Given the description of an element on the screen output the (x, y) to click on. 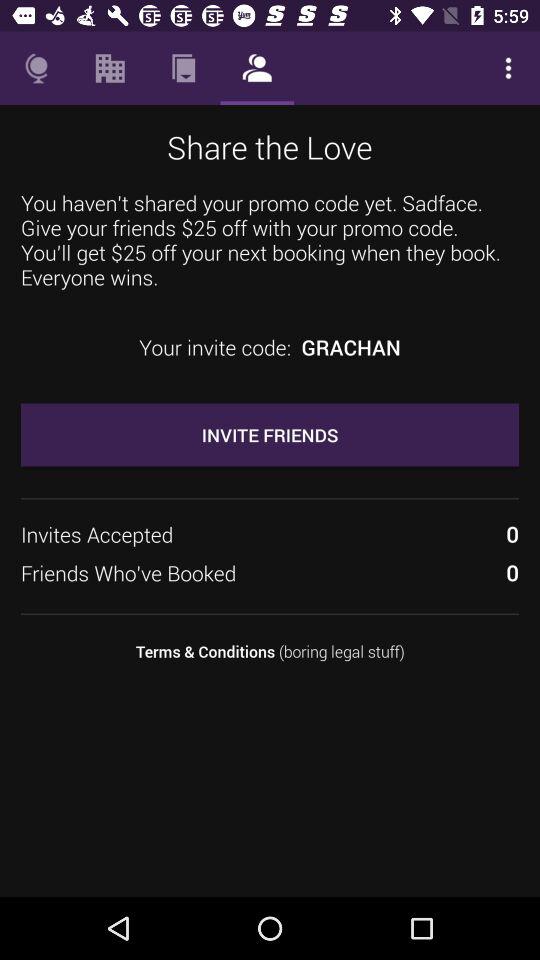
select invite friends item (270, 434)
